Given the description of an element on the screen output the (x, y) to click on. 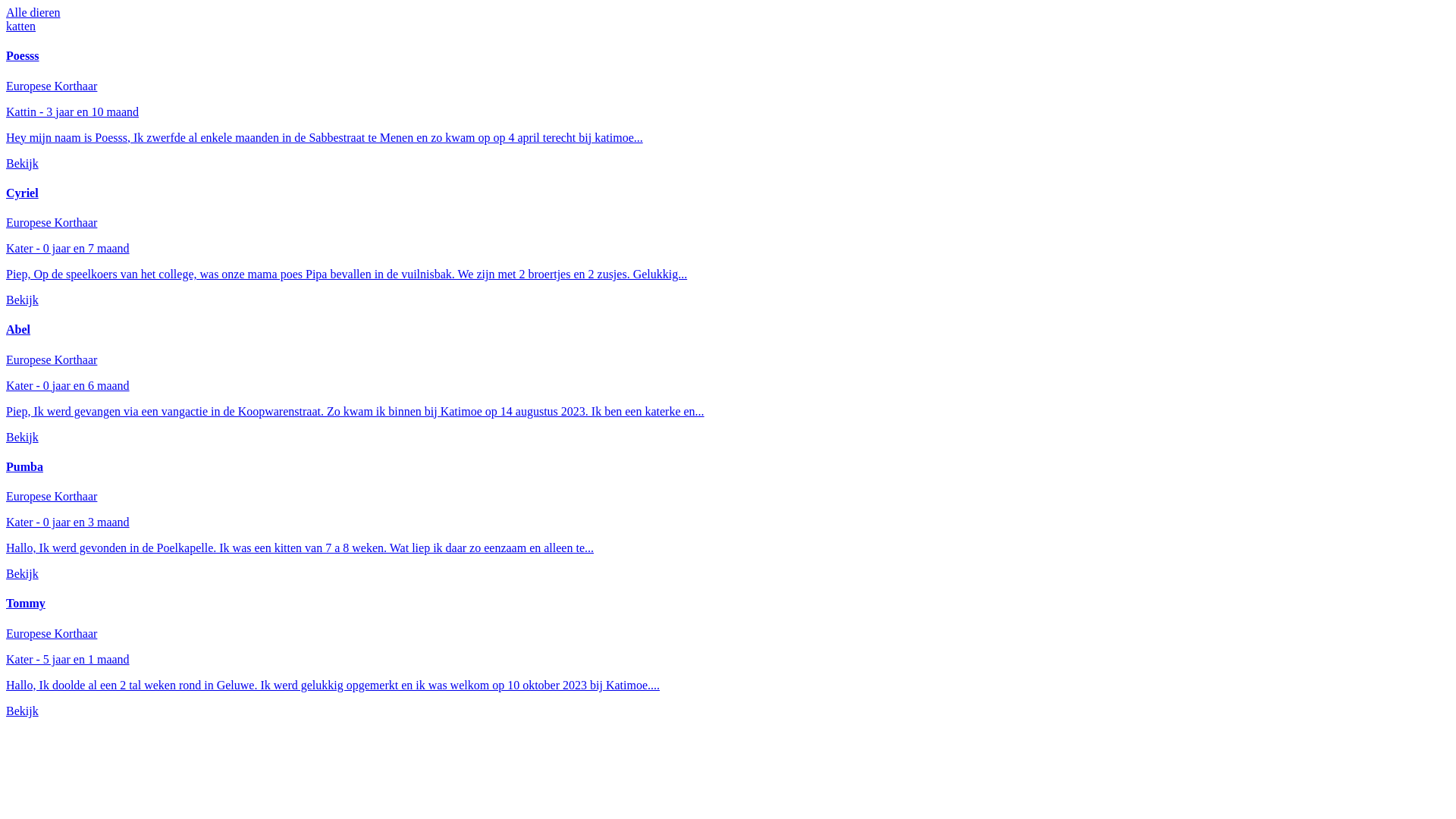
katten Element type: text (727, 26)
Alle dieren Element type: text (727, 12)
